Given the description of an element on the screen output the (x, y) to click on. 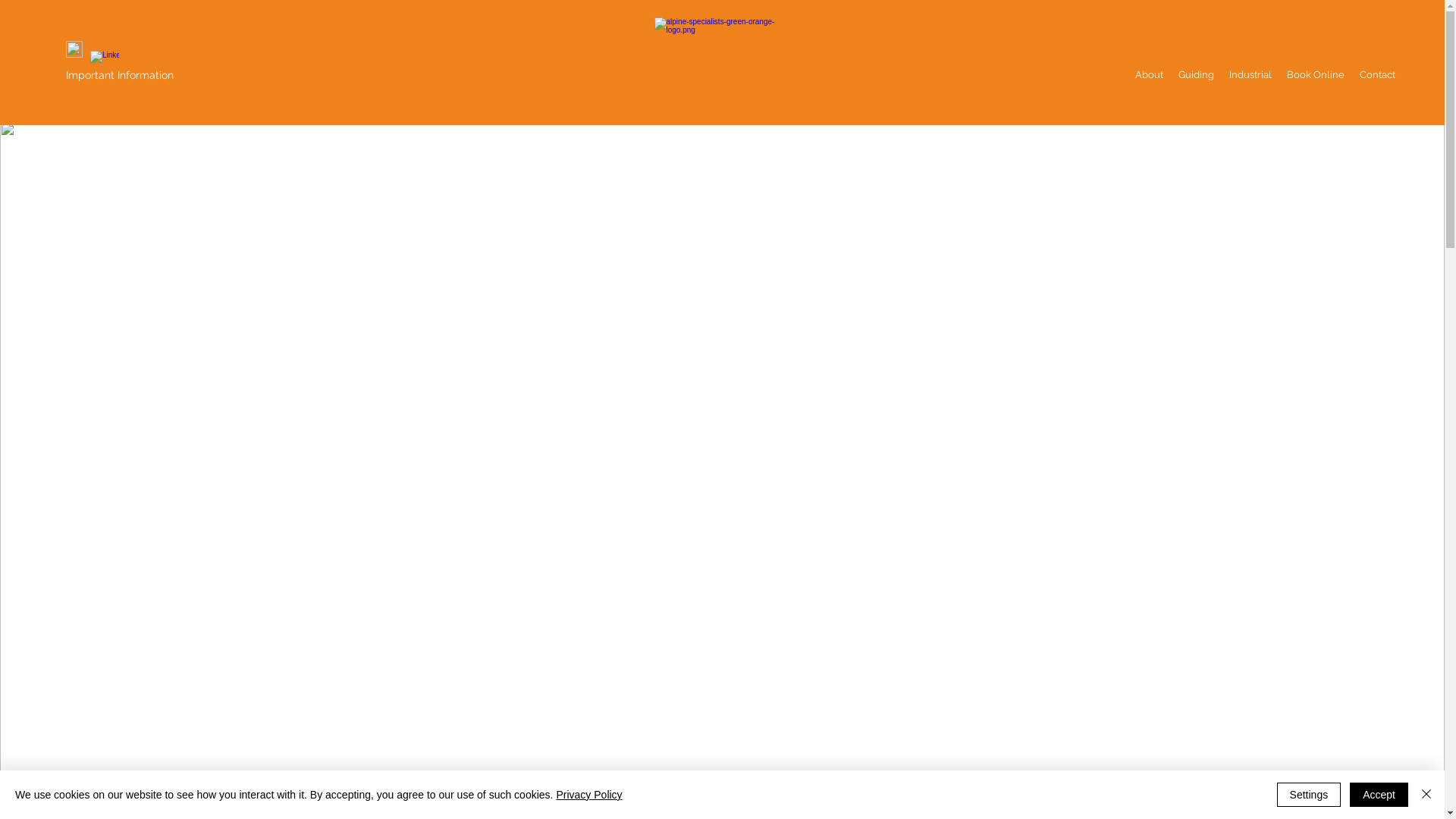
Accept Element type: text (1378, 794)
Industrial Element type: text (1250, 74)
Contact Element type: text (1377, 74)
Book Online Element type: text (1315, 74)
Important Information Element type: text (119, 75)
Privacy Policy Element type: text (588, 794)
Guiding Element type: text (1195, 74)
Settings Element type: text (1309, 794)
About Element type: text (1148, 74)
